Given the description of an element on the screen output the (x, y) to click on. 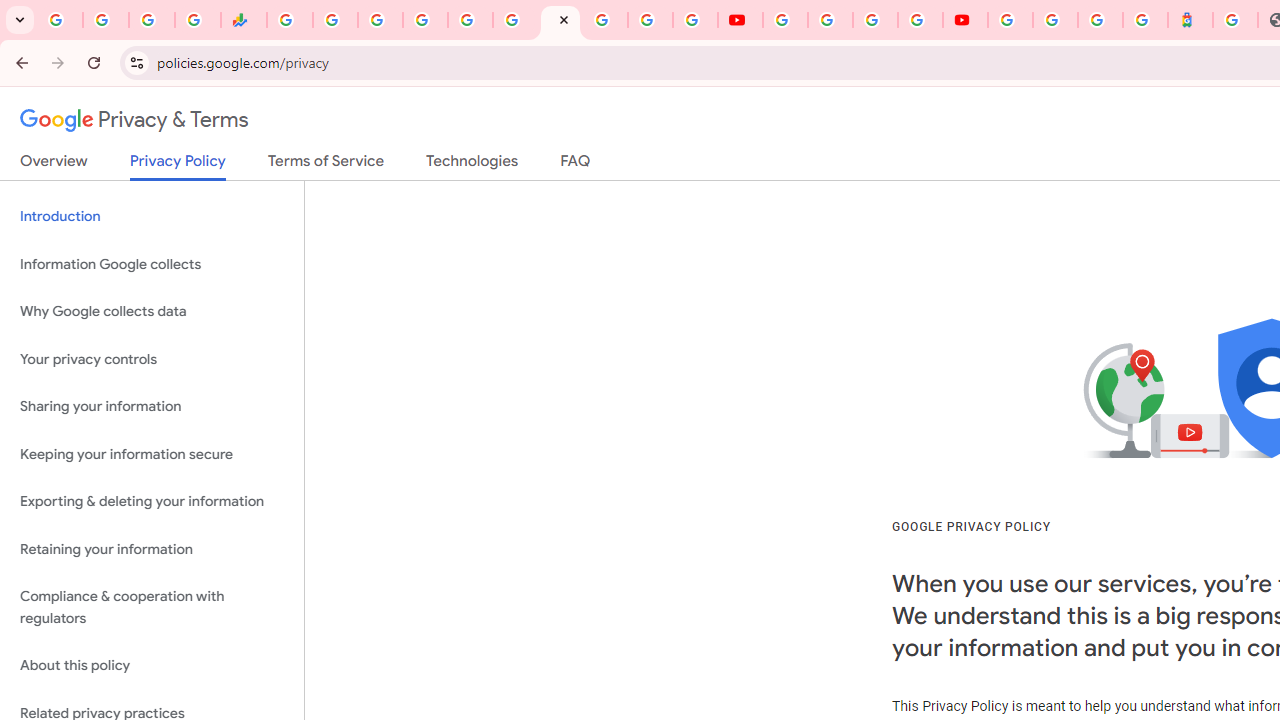
Atour Hotel - Google hotels (1190, 20)
Keeping your information secure (152, 453)
Google Account Help (829, 20)
Retaining your information (152, 548)
Create your Google Account (875, 20)
Google Workspace Admin Community (60, 20)
YouTube (784, 20)
Content Creator Programs & Opportunities - YouTube Creators (965, 20)
Compliance & cooperation with regulators (152, 607)
